Given the description of an element on the screen output the (x, y) to click on. 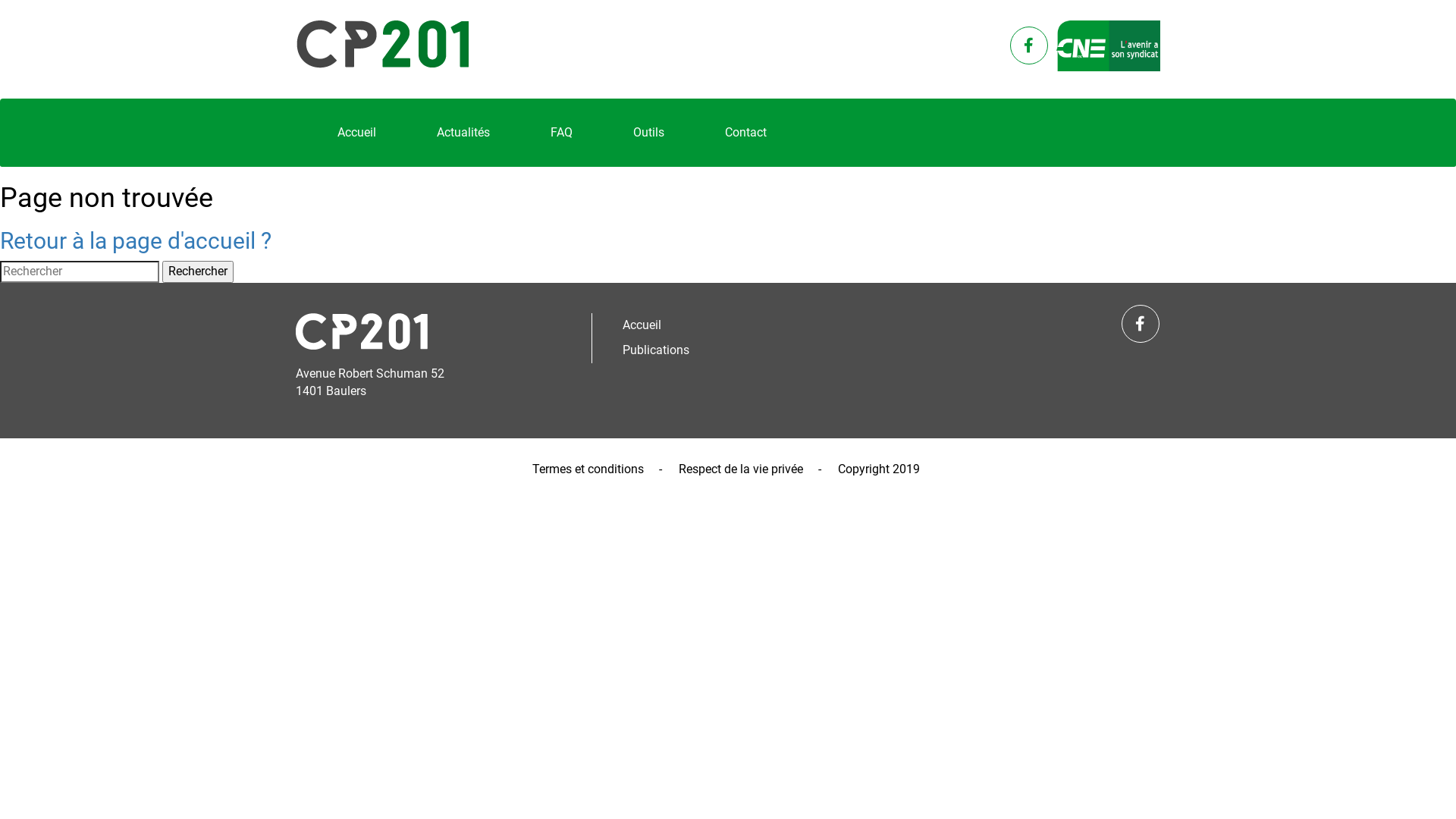
FAQ Element type: text (561, 132)
Termes et conditions Element type: text (587, 468)
Publications Element type: text (743, 350)
Contact Element type: text (745, 132)
Copyright 2019 Element type: text (878, 468)
Accueil Element type: text (356, 132)
Rechercher Element type: text (197, 271)
Outils Element type: text (648, 132)
Accueil Element type: text (743, 325)
